Given the description of an element on the screen output the (x, y) to click on. 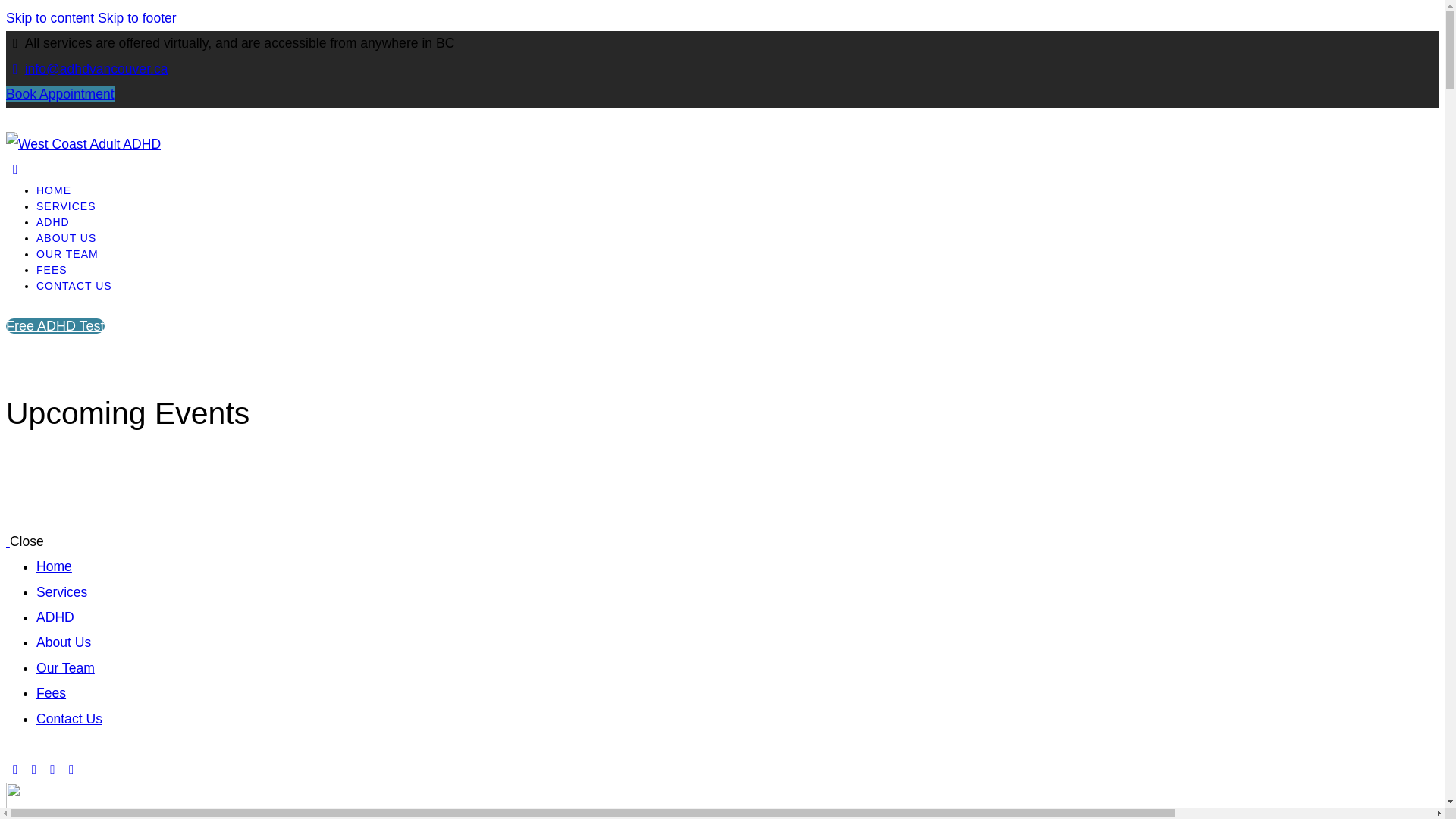
Home Element type: text (54, 566)
Book Appointment Element type: text (60, 93)
CONTACT US Element type: text (74, 285)
info@adhdvancouver.ca Element type: text (86, 68)
Skip to content Element type: text (50, 17)
Fees Element type: text (50, 692)
Our Team Element type: text (65, 667)
Skip to footer Element type: text (136, 17)
ABOUT US Element type: text (66, 238)
About Us Element type: text (63, 641)
Contact Us Element type: text (69, 718)
FEES Element type: text (51, 269)
SERVICES Element type: text (66, 206)
Services Element type: text (61, 591)
ADHD Element type: text (55, 616)
Close Element type: text (26, 541)
Free ADHD Test Element type: text (55, 325)
HOME Element type: text (53, 190)
OUR TEAM Element type: text (67, 253)
ADHD Element type: text (52, 222)
